Given the description of an element on the screen output the (x, y) to click on. 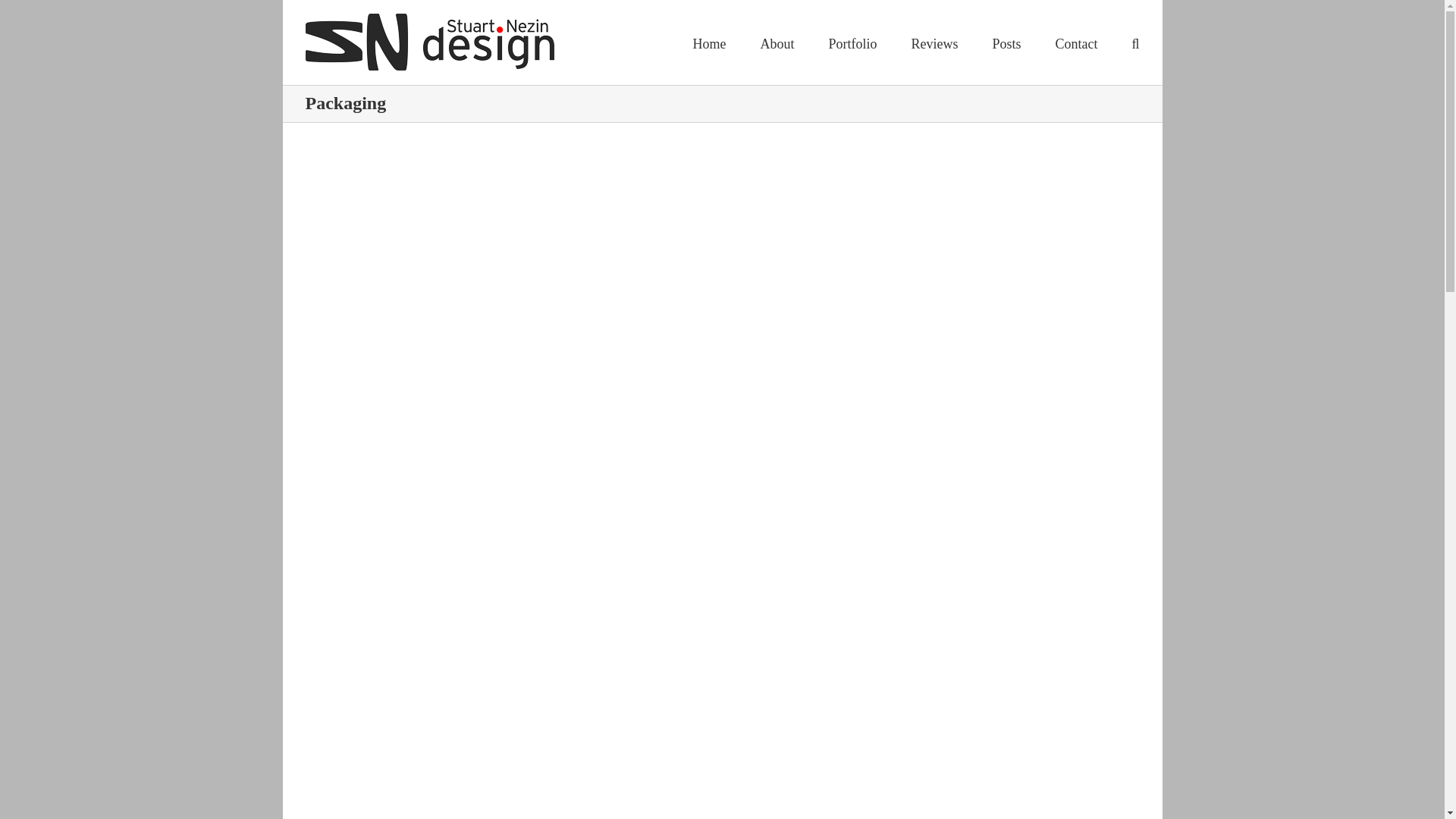
Contact (1075, 42)
Posts (1005, 42)
Portfolio (852, 42)
About (776, 42)
Reviews (934, 42)
Home (709, 42)
